Given the description of an element on the screen output the (x, y) to click on. 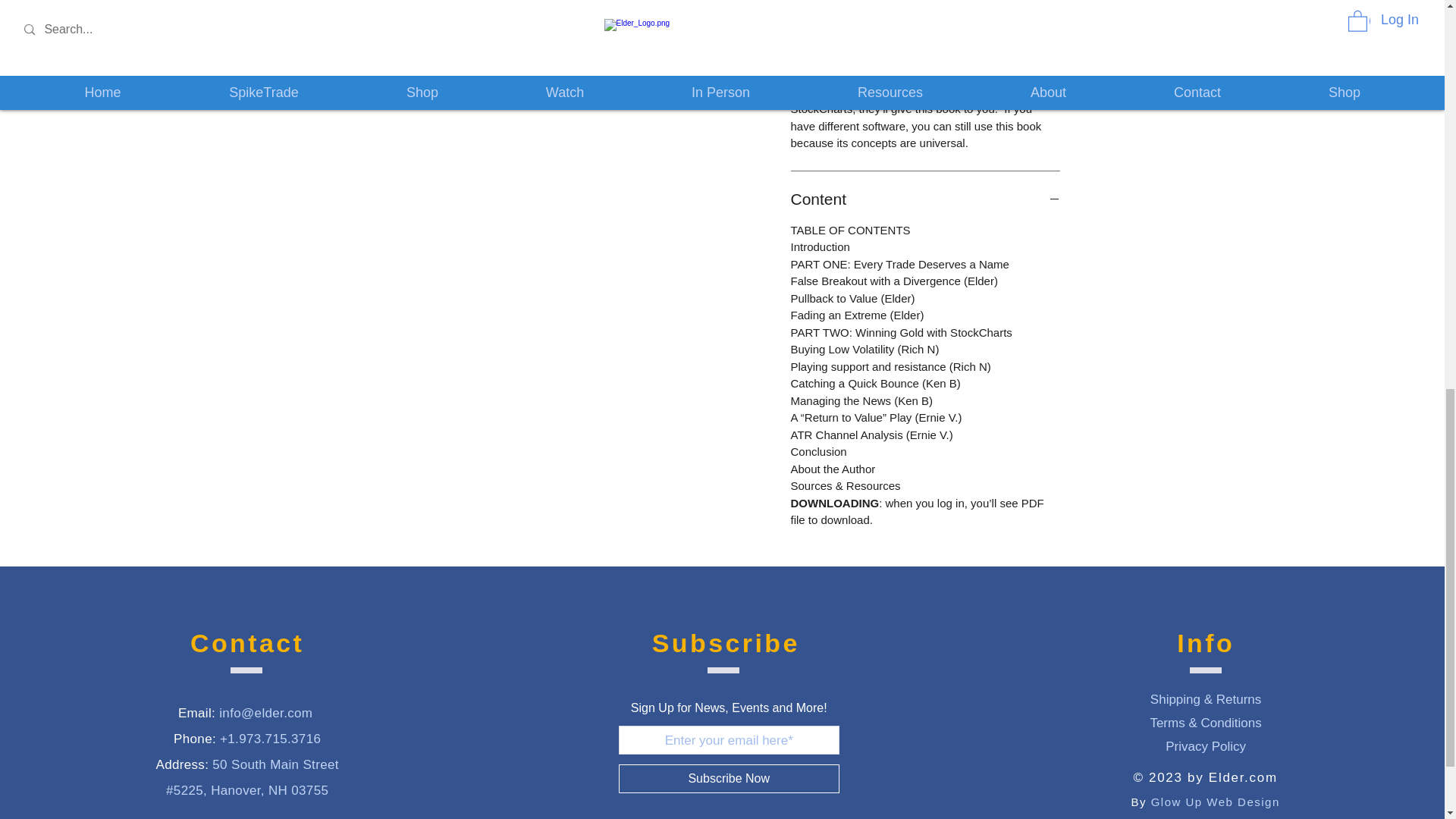
Privacy Policy (1206, 746)
Content (924, 199)
Glow Up Web Design (1215, 801)
Address: (181, 764)
Subscribe Now (729, 778)
